Given the description of an element on the screen output the (x, y) to click on. 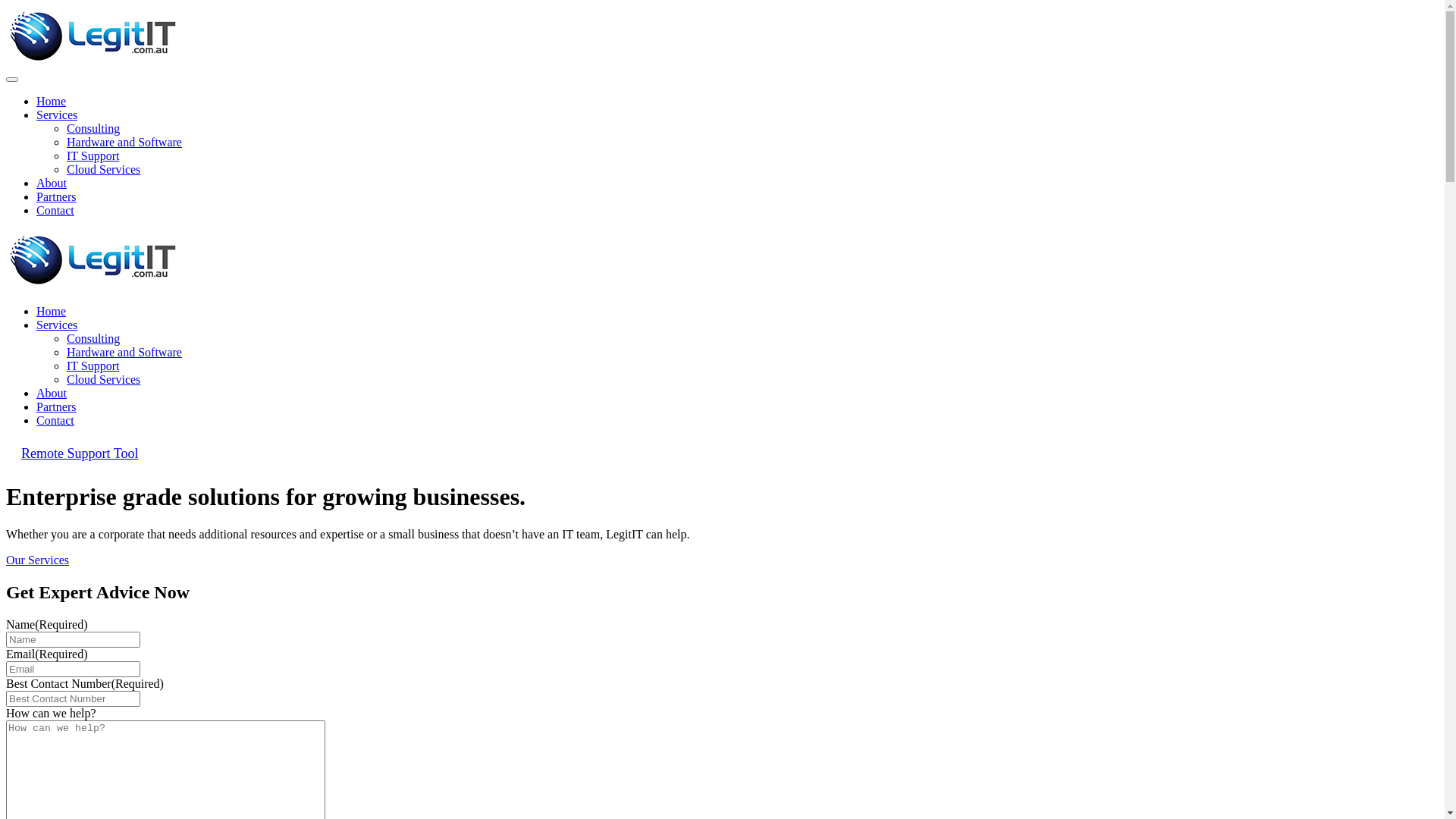
Services Element type: text (56, 324)
IT Support Element type: text (92, 155)
Hardware and Software Element type: text (124, 141)
Cloud Services Element type: text (103, 379)
Remote Support Tool Element type: text (79, 453)
Contact Element type: text (55, 209)
About Element type: text (51, 182)
Partners Element type: text (55, 196)
About Element type: text (51, 392)
Our Services Element type: text (37, 559)
Cloud Services Element type: text (103, 169)
Home Element type: text (50, 310)
IT Support Element type: text (92, 365)
Contact Element type: text (55, 420)
Consulting Element type: text (92, 128)
Hardware and Software Element type: text (124, 351)
Partners Element type: text (55, 406)
Consulting Element type: text (92, 338)
Home Element type: text (50, 100)
Services Element type: text (56, 114)
